Given the description of an element on the screen output the (x, y) to click on. 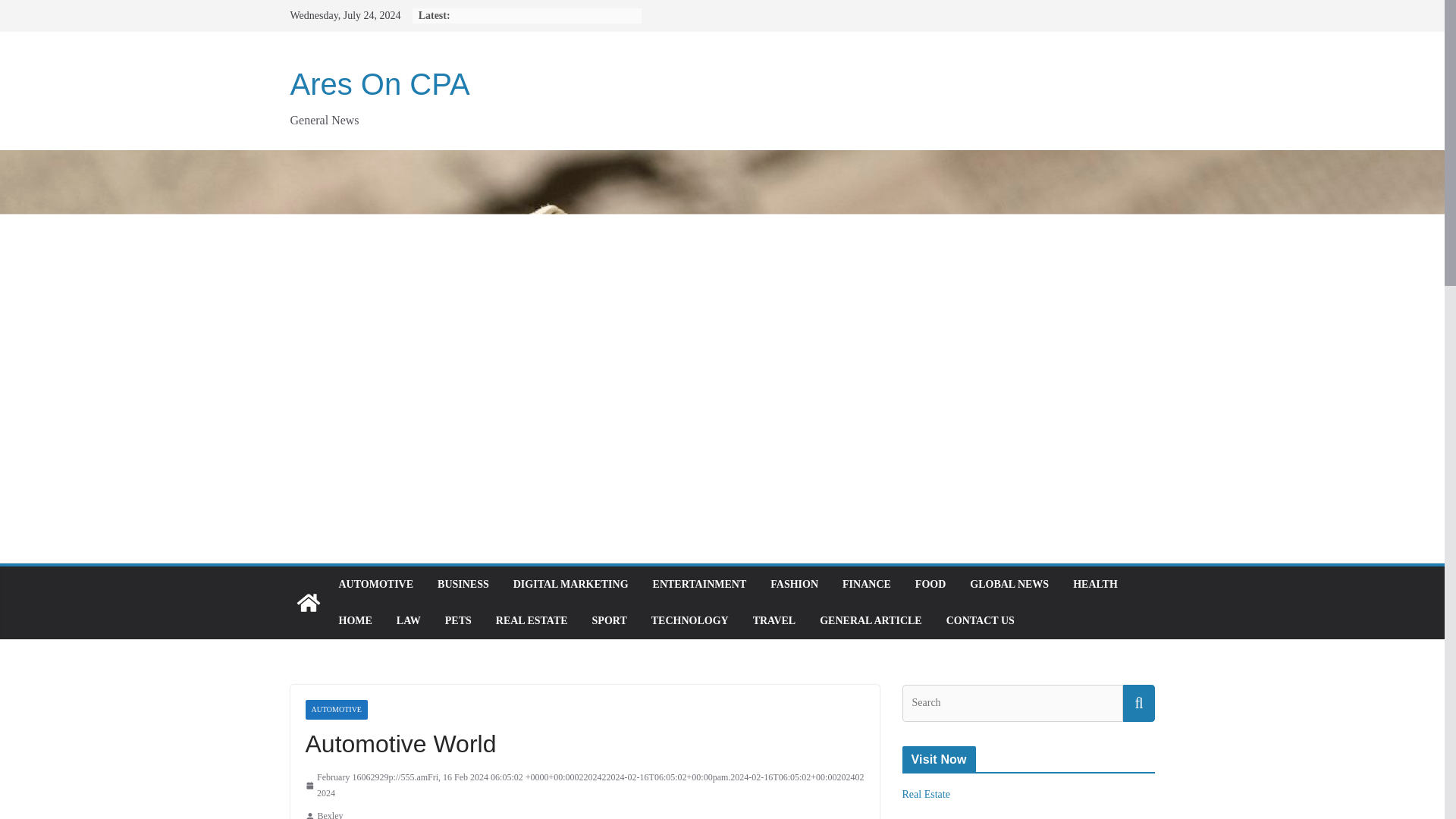
GENERAL ARTICLE (870, 620)
FASHION (794, 584)
HEALTH (1095, 584)
Bexley (329, 813)
FINANCE (867, 584)
TRAVEL (774, 620)
Ares On CPA (378, 83)
SPORT (609, 620)
DIGITAL MARKETING (570, 584)
Bexley (329, 813)
REAL ESTATE (531, 620)
BUSINESS (463, 584)
TECHNOLOGY (689, 620)
PETS (458, 620)
GLOBAL NEWS (1008, 584)
